Given the description of an element on the screen output the (x, y) to click on. 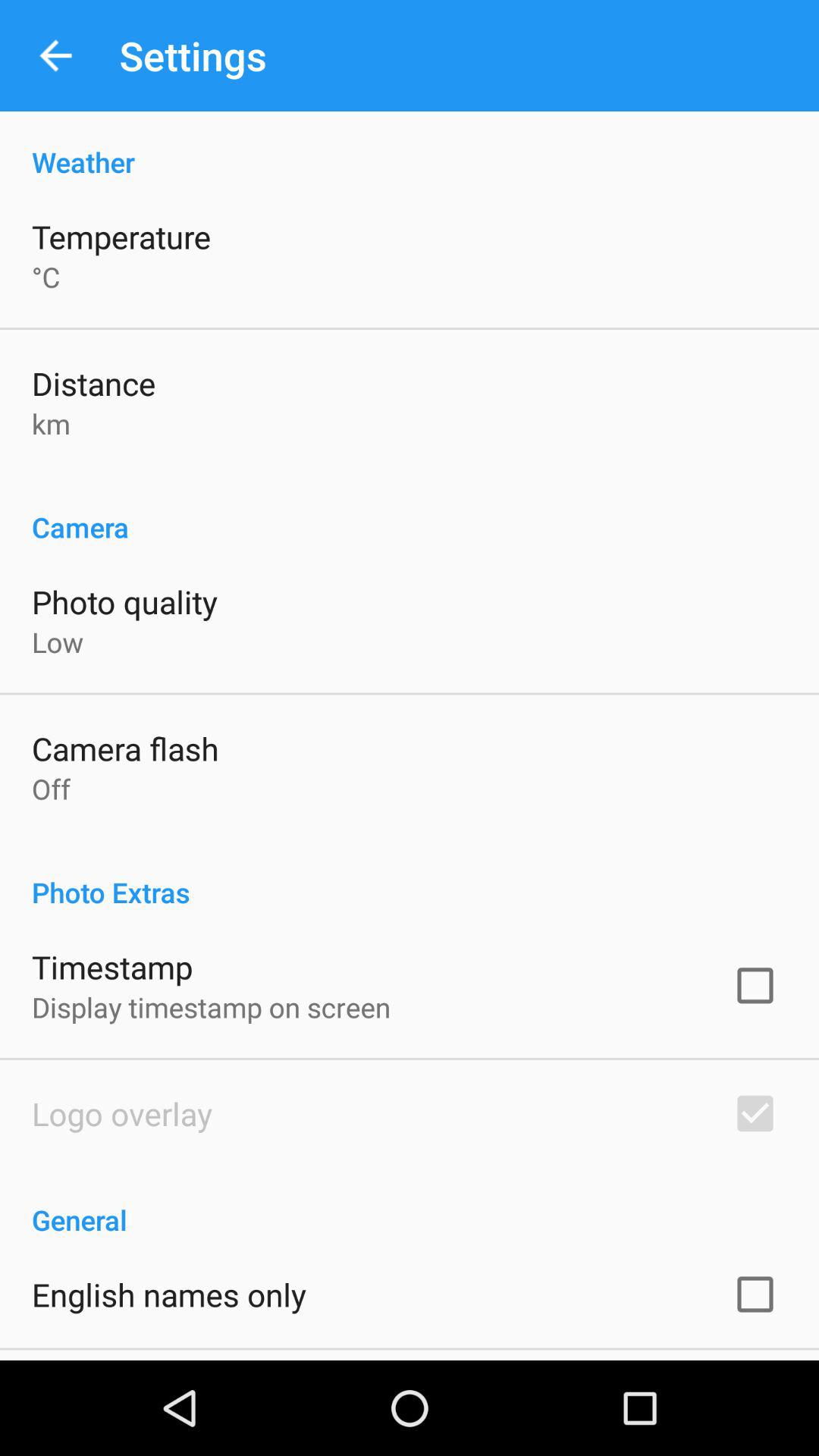
turn on camera flash item (124, 748)
